Given the description of an element on the screen output the (x, y) to click on. 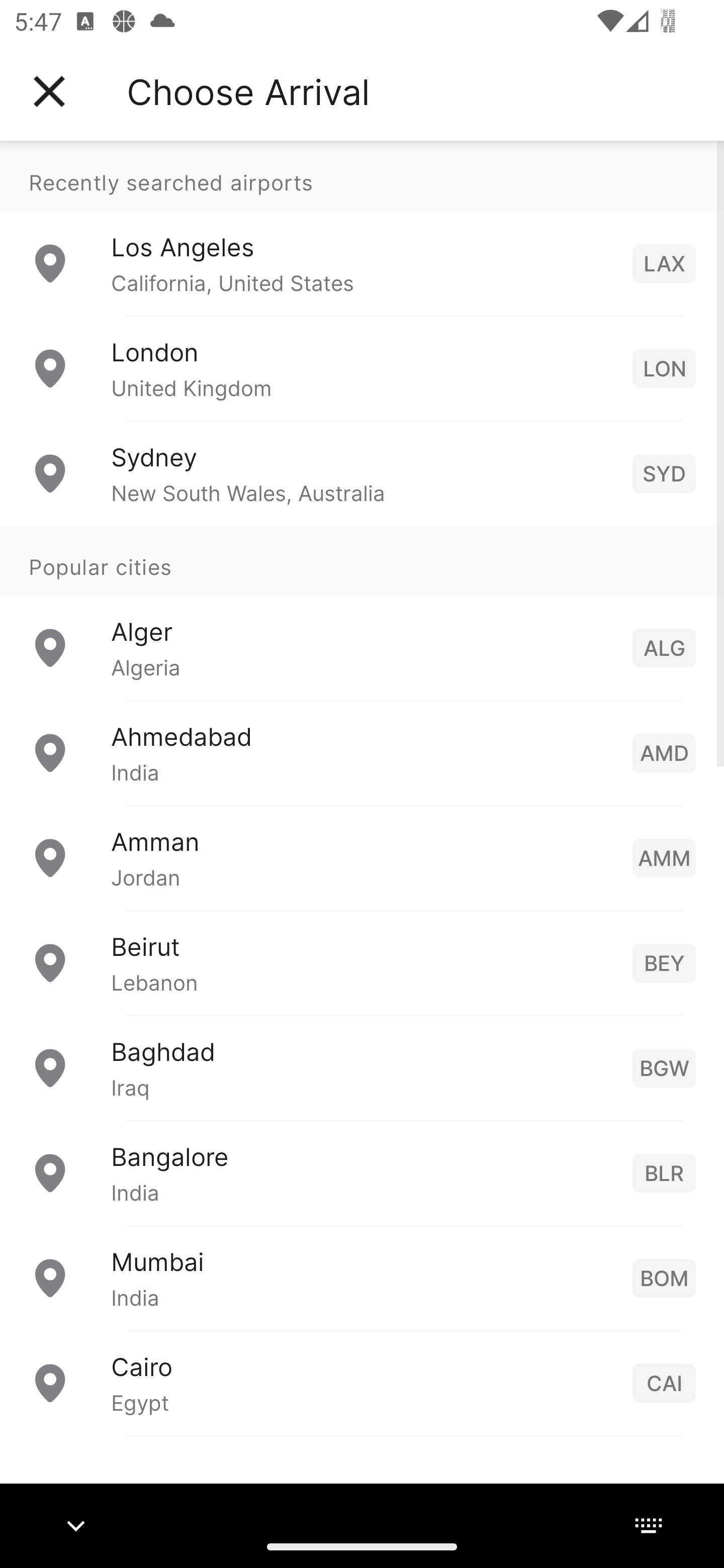
Choose Arrival (247, 91)
Recently searched airports (362, 176)
London United Kingdom LON (362, 367)
Sydney New South Wales, Australia SYD (362, 472)
Popular cities Alger Algeria ALG (362, 612)
Popular cities (362, 560)
Ahmedabad India AMD (362, 751)
Amman Jordan AMM (362, 856)
Beirut Lebanon BEY (362, 961)
Baghdad Iraq BGW (362, 1066)
Bangalore India BLR (362, 1171)
Mumbai India BOM (362, 1276)
Cairo Egypt CAI (362, 1381)
